Given the description of an element on the screen output the (x, y) to click on. 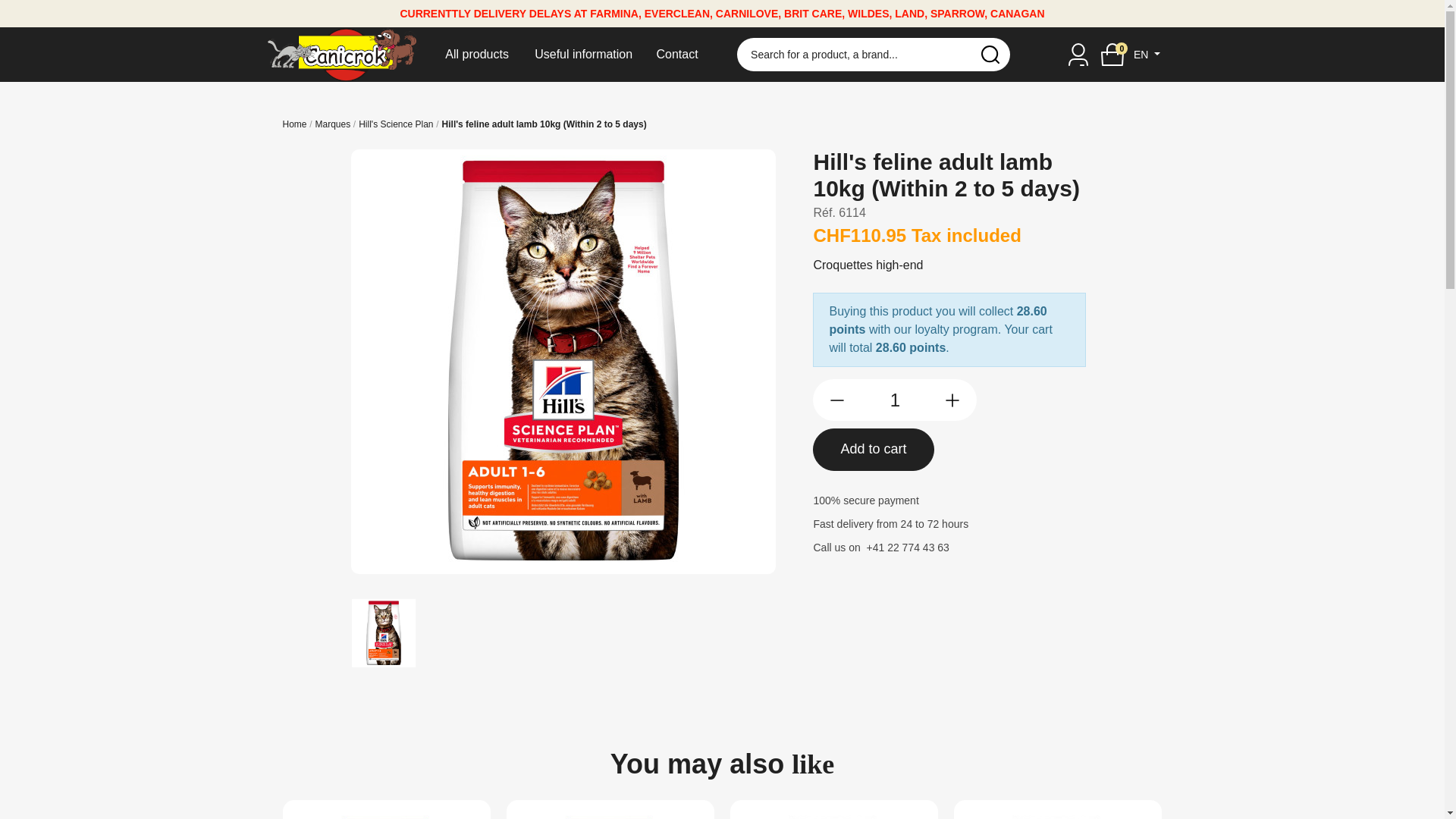
Canicrok Element type: hover (342, 53)
Home Element type: text (294, 124)
Useful information Element type: text (583, 54)
Marques Element type: text (333, 124)
Hill's Science Plan Element type: text (395, 124)
Add to cart Element type: text (872, 449)
Hill's feline adult lamb 10kg Element type: hover (562, 361)
Contact Element type: text (677, 54)
Hill's feline adult lamb 10kg Element type: hover (383, 633)
0 Element type: text (1112, 54)
All products Element type: text (476, 54)
